Given the description of an element on the screen output the (x, y) to click on. 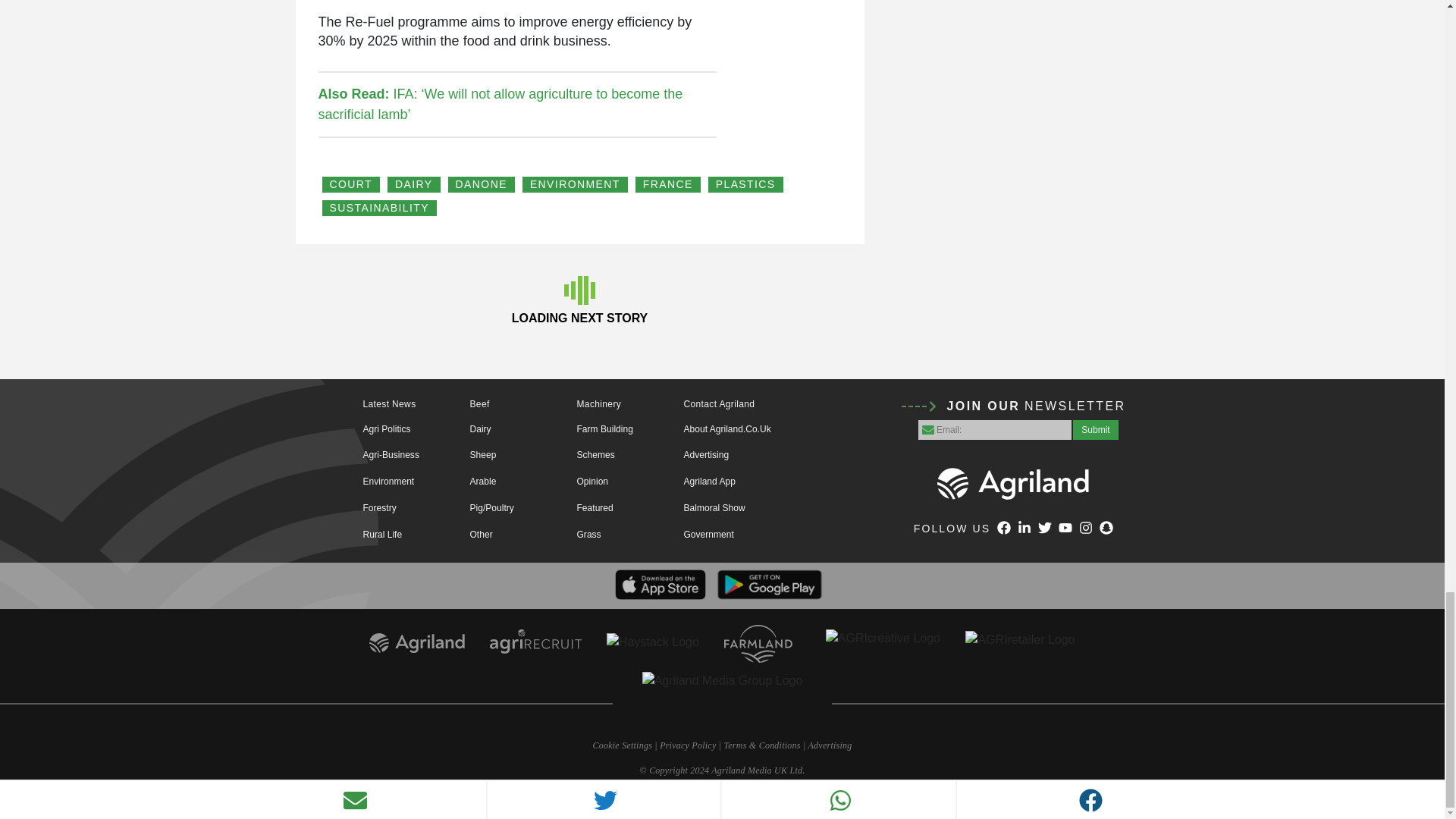
Link to Linked In (1023, 529)
Link to Instagram (1085, 529)
Link to Twitter (1044, 529)
Link to Facebook (1003, 529)
Link to Snap Chat (1106, 529)
Link to You Tube (1064, 529)
